Given the description of an element on the screen output the (x, y) to click on. 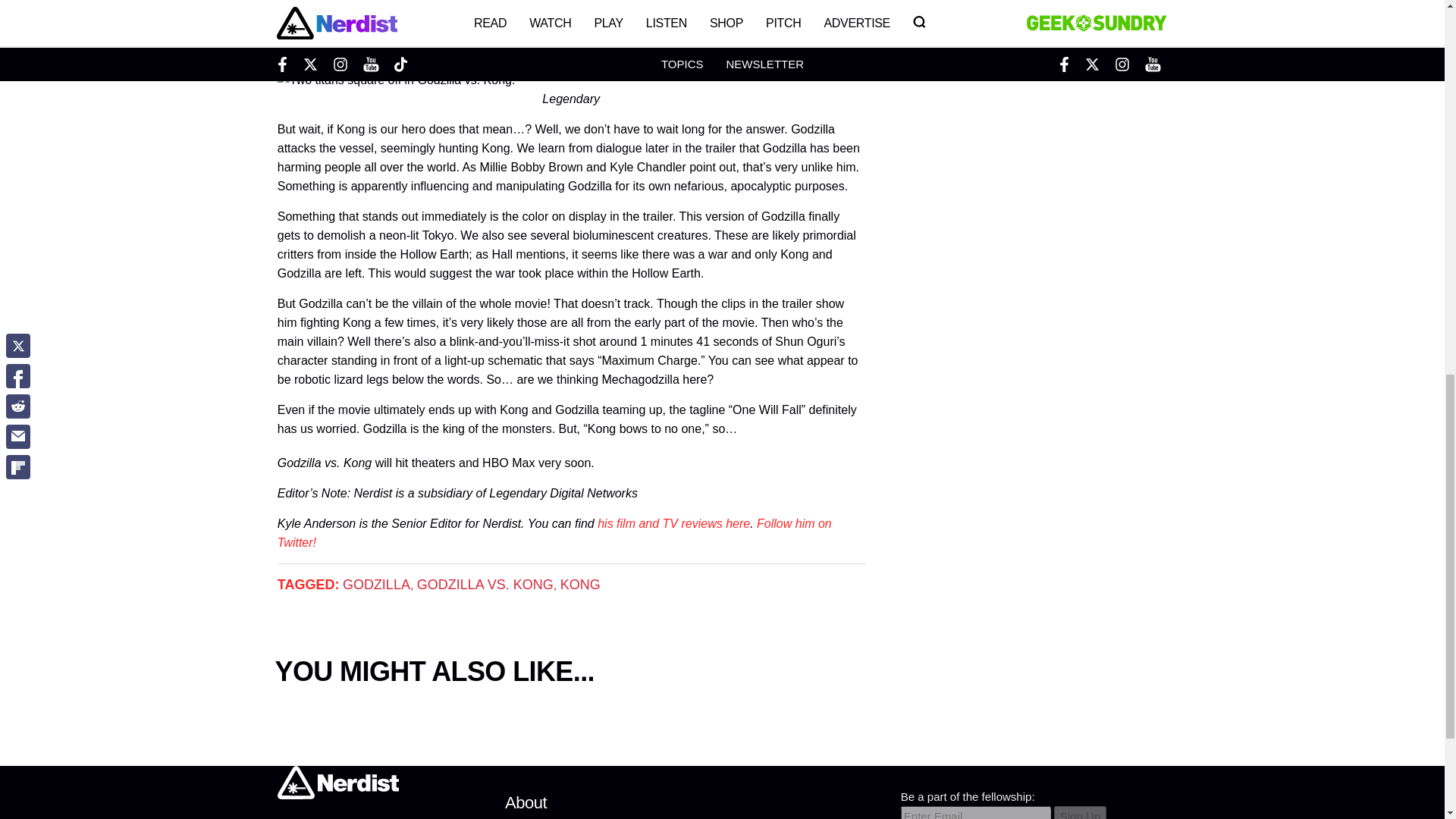
GODZILLA VS. KONG (484, 584)
his film and TV reviews here (672, 522)
GODZILLA (376, 584)
Sign Up (1080, 812)
KONG (579, 584)
About (526, 802)
Follow him on Twitter! (554, 532)
